Given the description of an element on the screen output the (x, y) to click on. 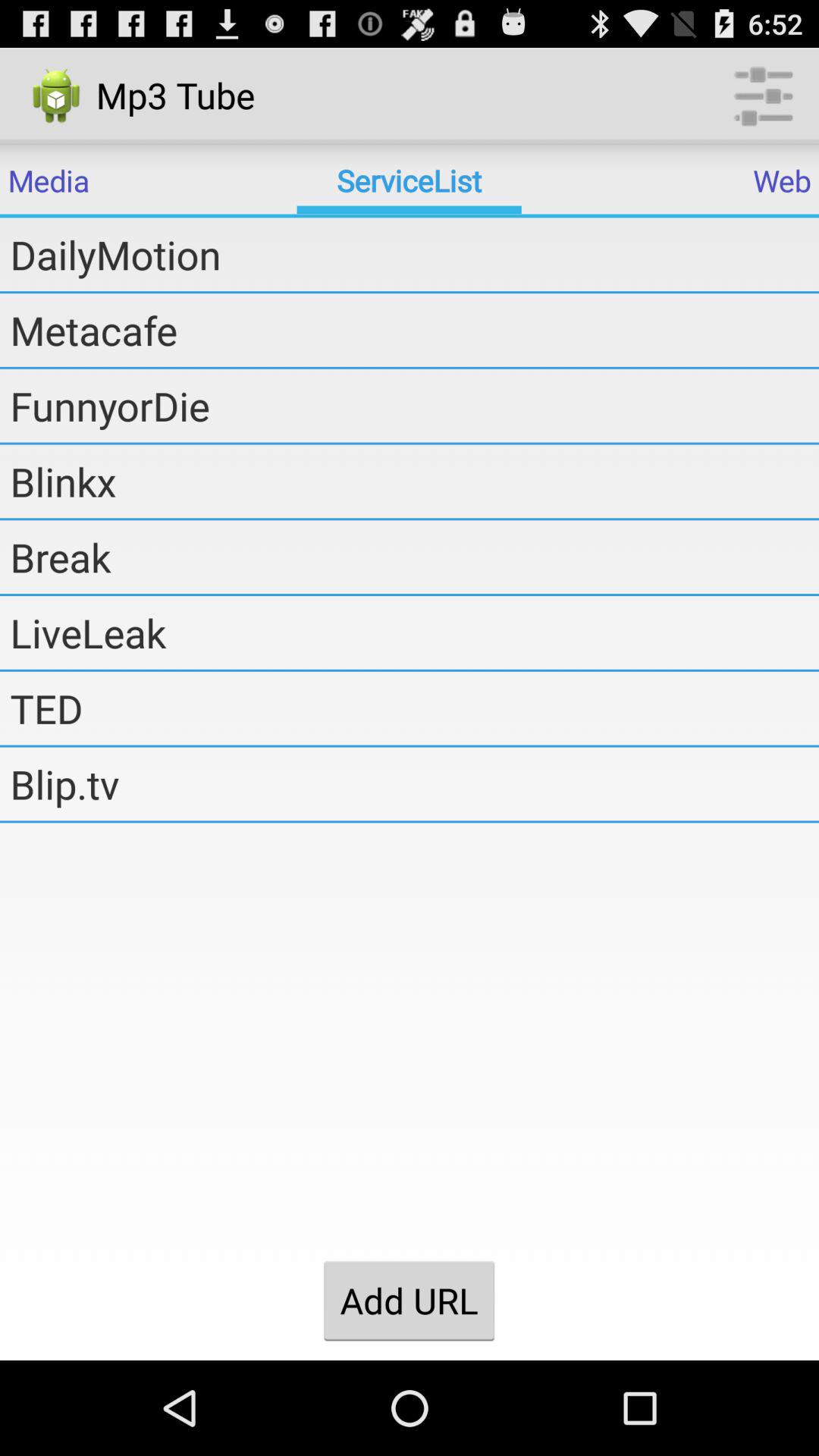
tap item above the add url item (414, 783)
